Given the description of an element on the screen output the (x, y) to click on. 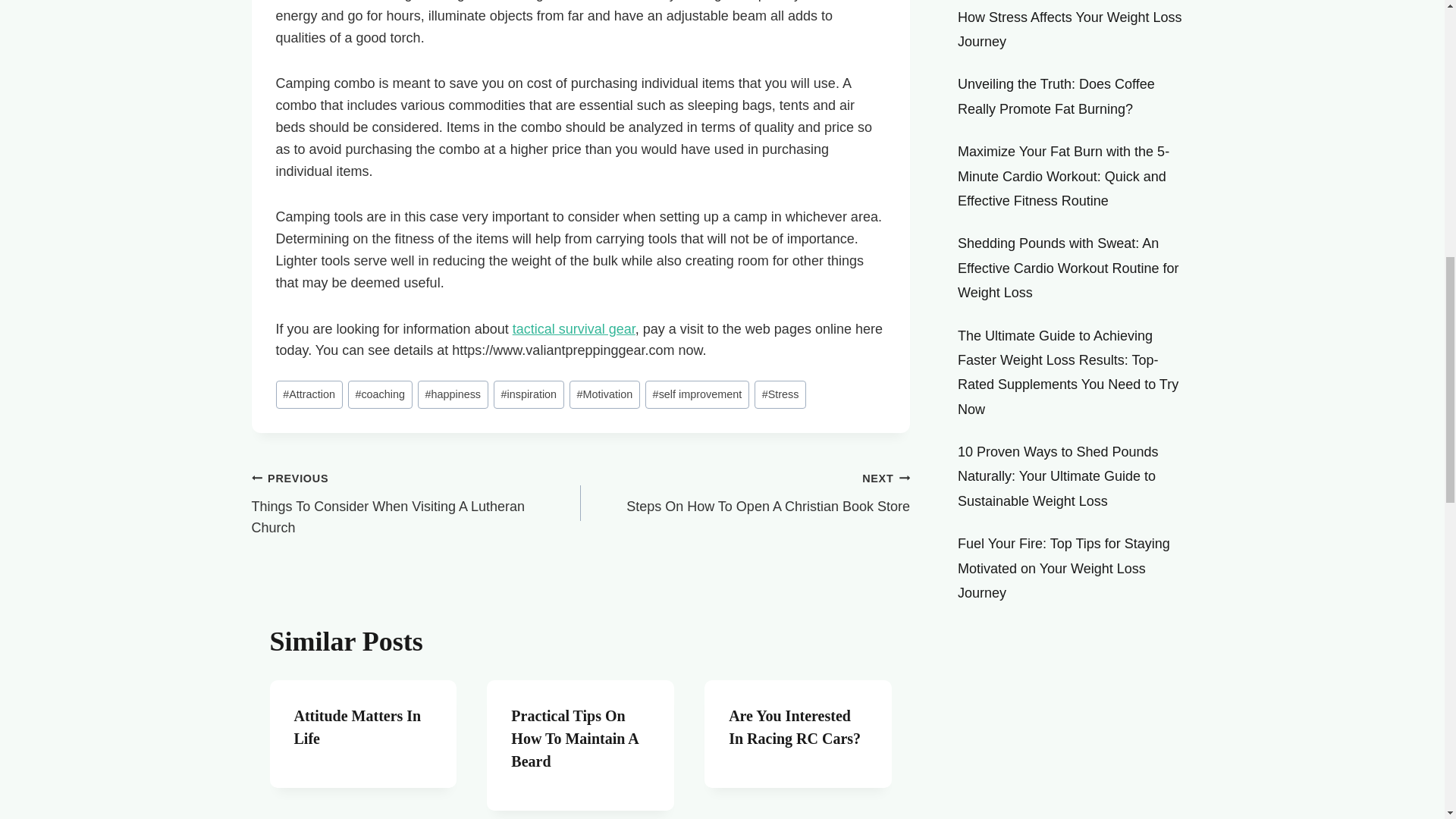
tactical survival gear (573, 328)
inspiration (528, 394)
Stress (780, 394)
Motivation (604, 394)
Attitude Matters In Life (415, 502)
coaching (358, 726)
happiness (379, 394)
self improvement (452, 394)
